Given the description of an element on the screen output the (x, y) to click on. 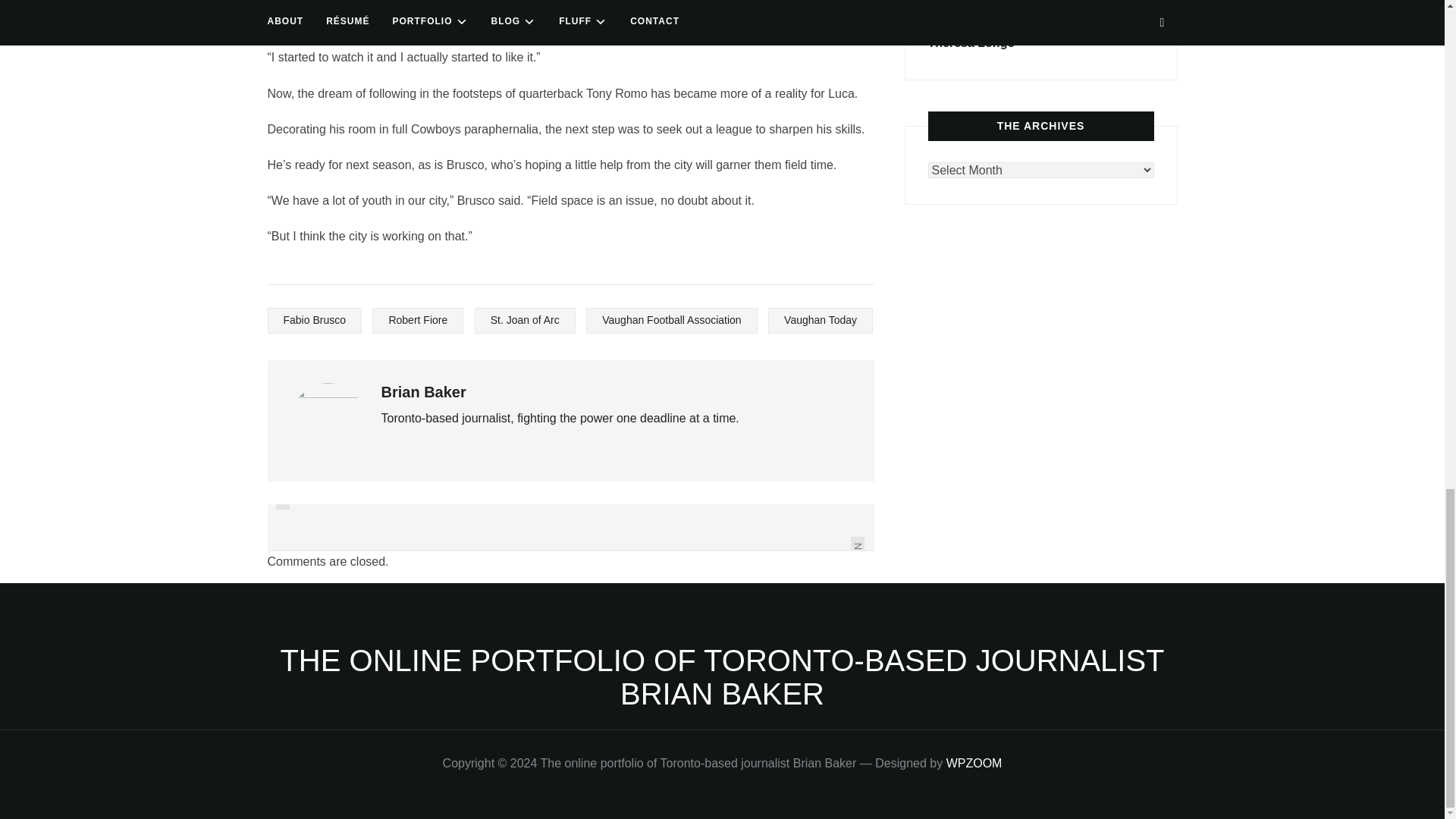
Sherene Chen-See (981, 18)
Posts by Brian Baker (422, 392)
